Given the description of an element on the screen output the (x, y) to click on. 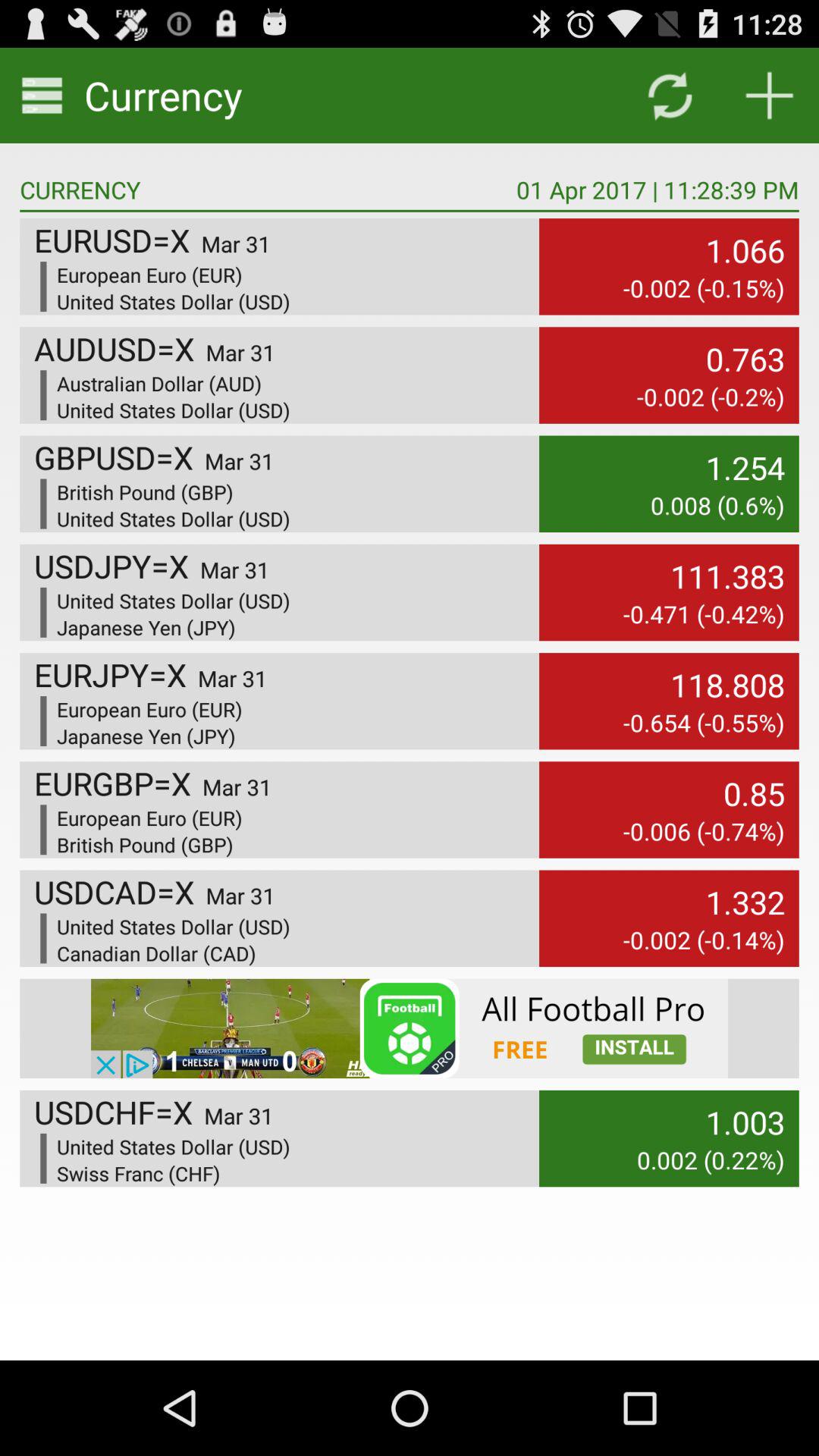
add liest (769, 95)
